Given the description of an element on the screen output the (x, y) to click on. 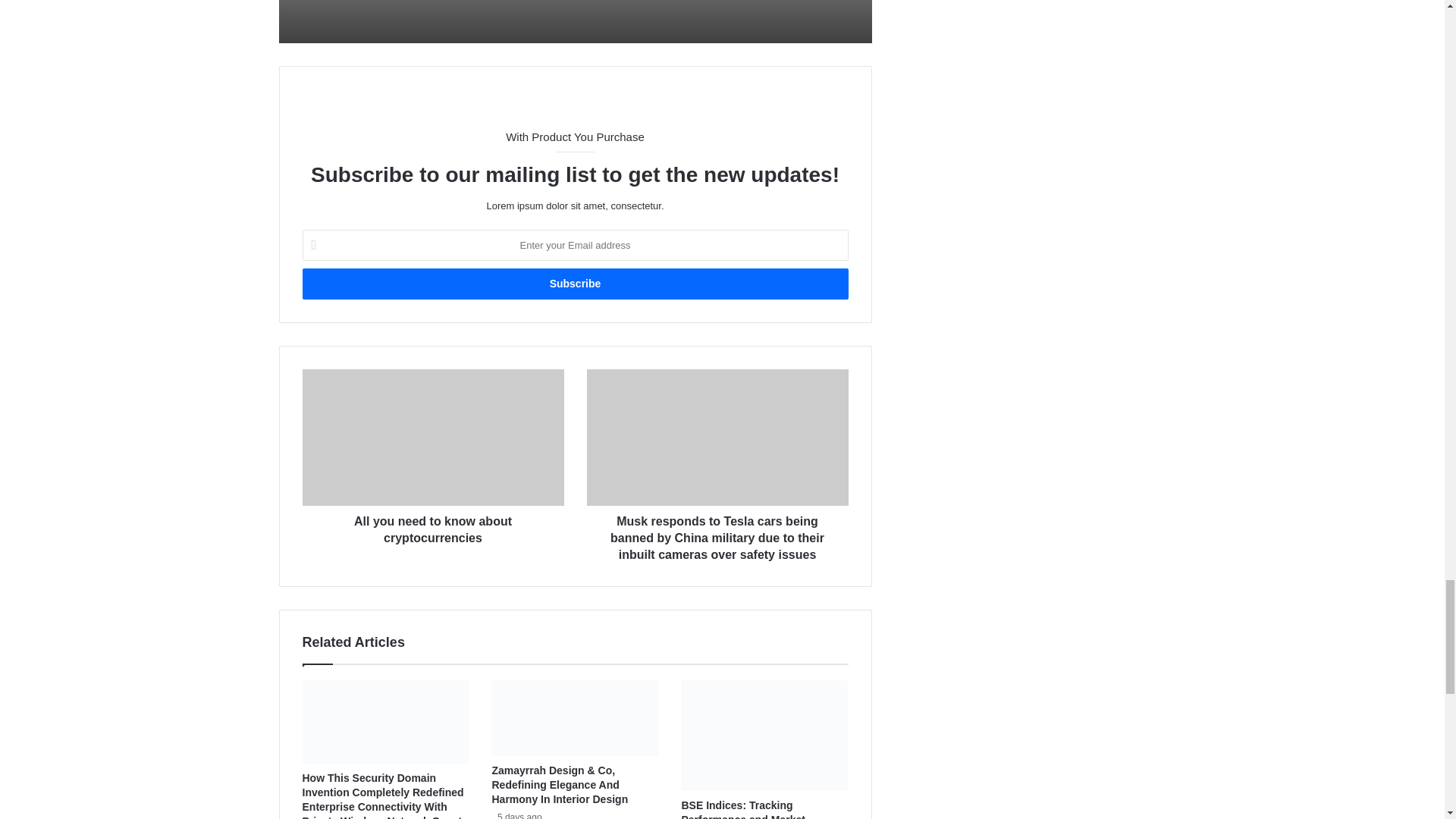
Subscribe (574, 283)
